Given the description of an element on the screen output the (x, y) to click on. 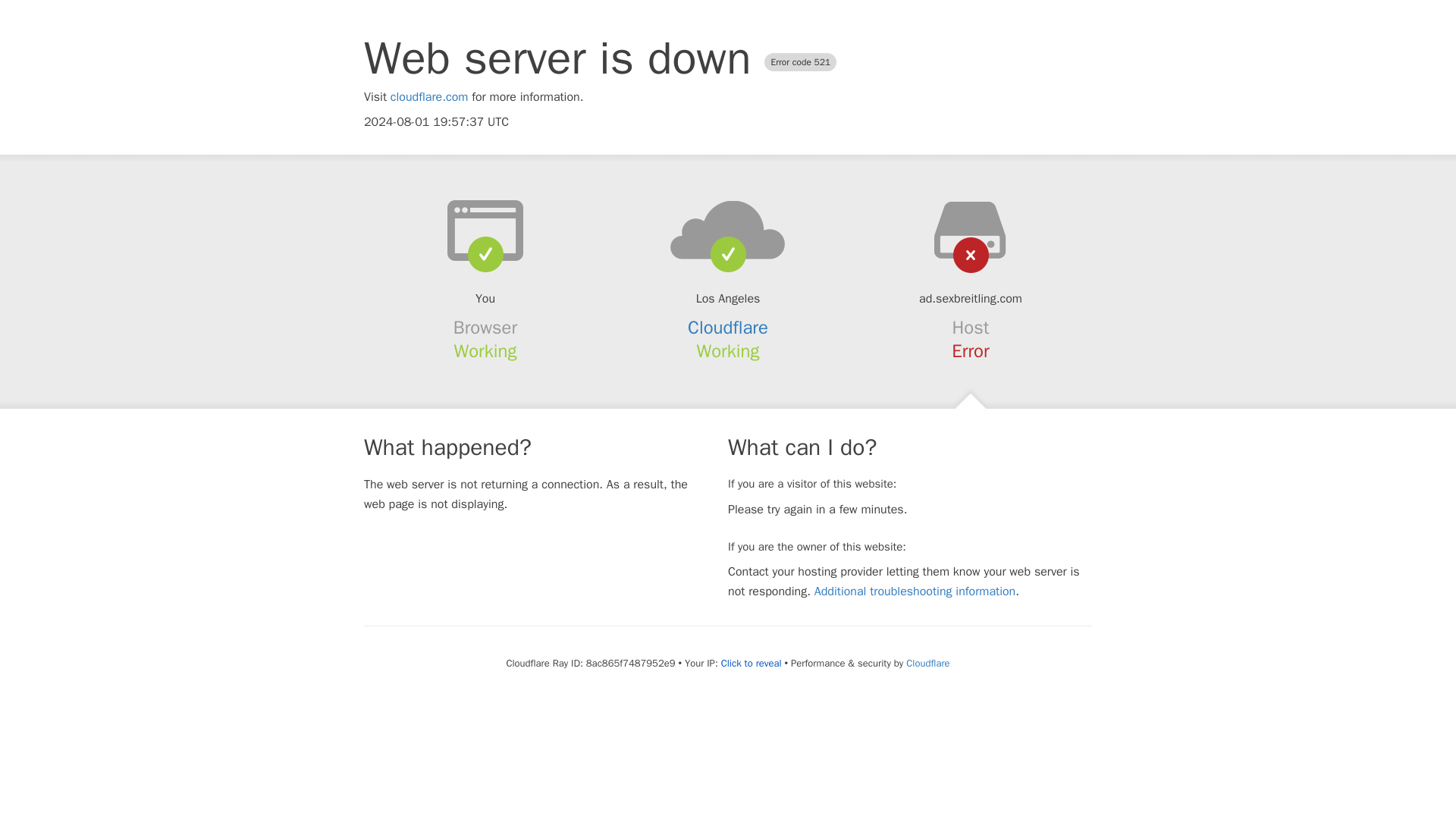
Additional troubleshooting information (913, 590)
Cloudflare (927, 662)
cloudflare.com (429, 96)
Cloudflare (727, 327)
Click to reveal (750, 663)
